Given the description of an element on the screen output the (x, y) to click on. 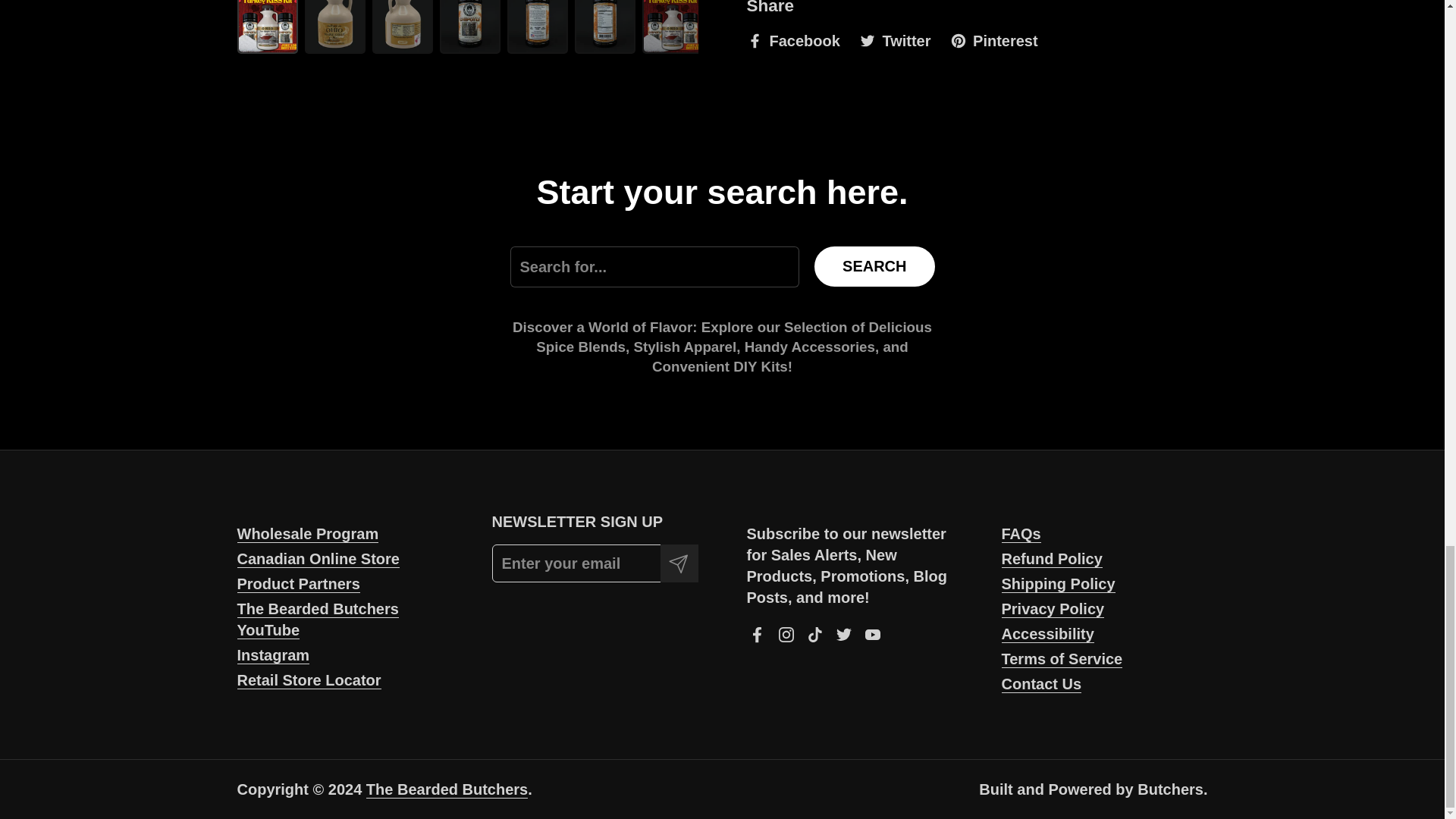
Share on twitter (894, 40)
Share on pinterest (994, 40)
Share on facebook (792, 40)
